Given the description of an element on the screen output the (x, y) to click on. 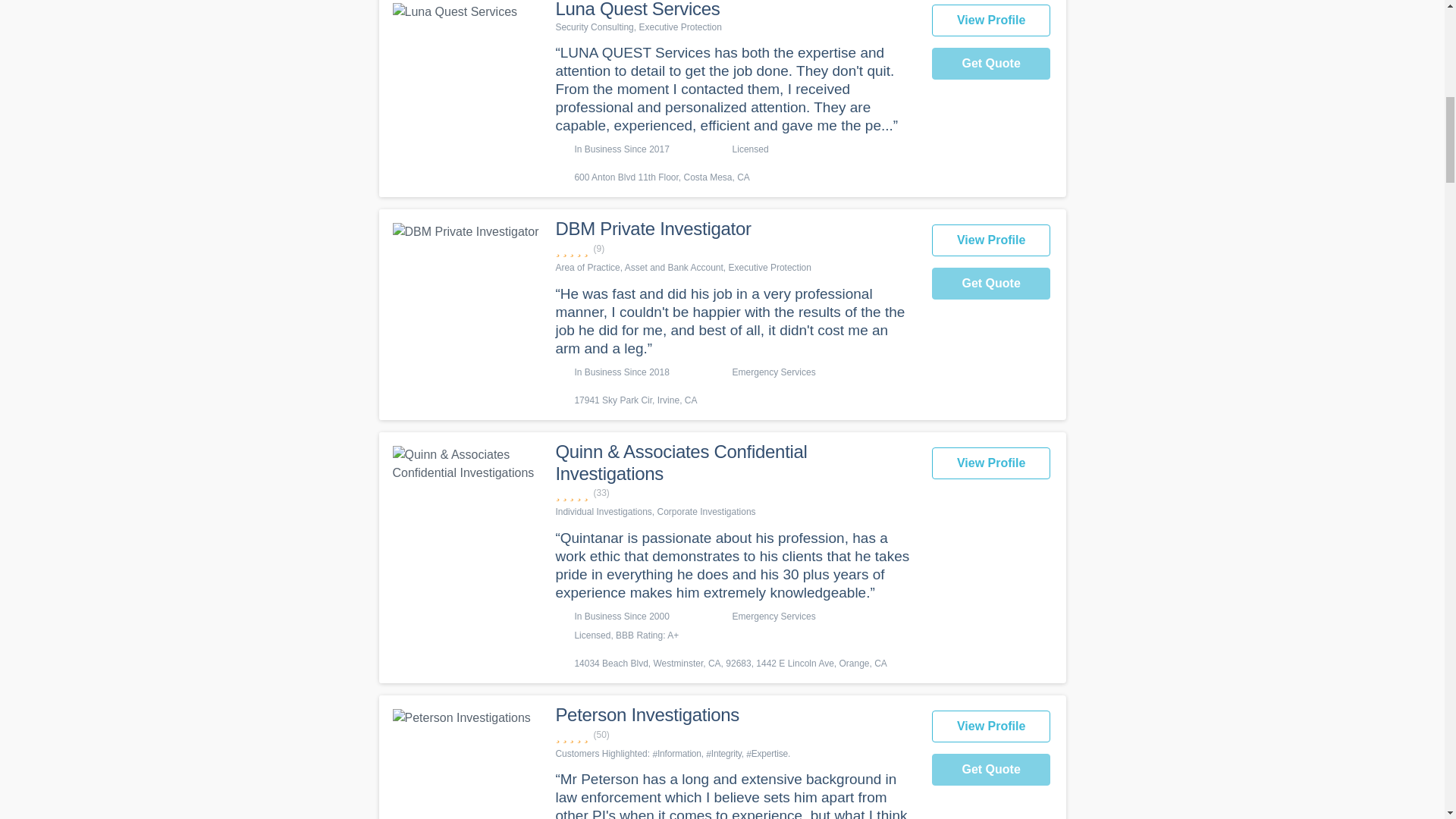
4.9 (734, 493)
Get Quote (991, 283)
5.0 (734, 735)
Get Quote (991, 63)
5.0 (734, 248)
